Given the description of an element on the screen output the (x, y) to click on. 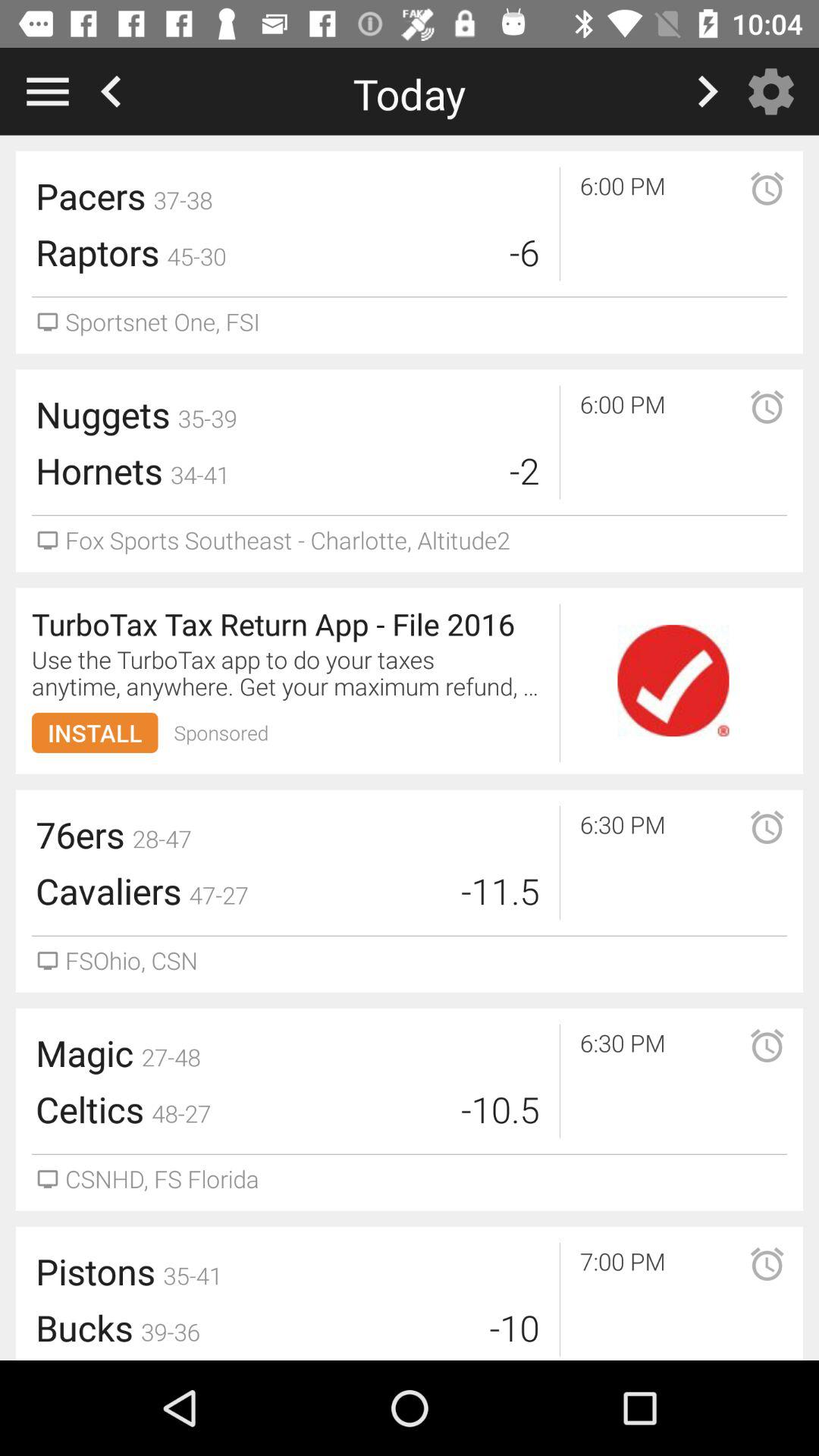
open the item to the right of 6:00 pm icon (747, 426)
